Given the description of an element on the screen output the (x, y) to click on. 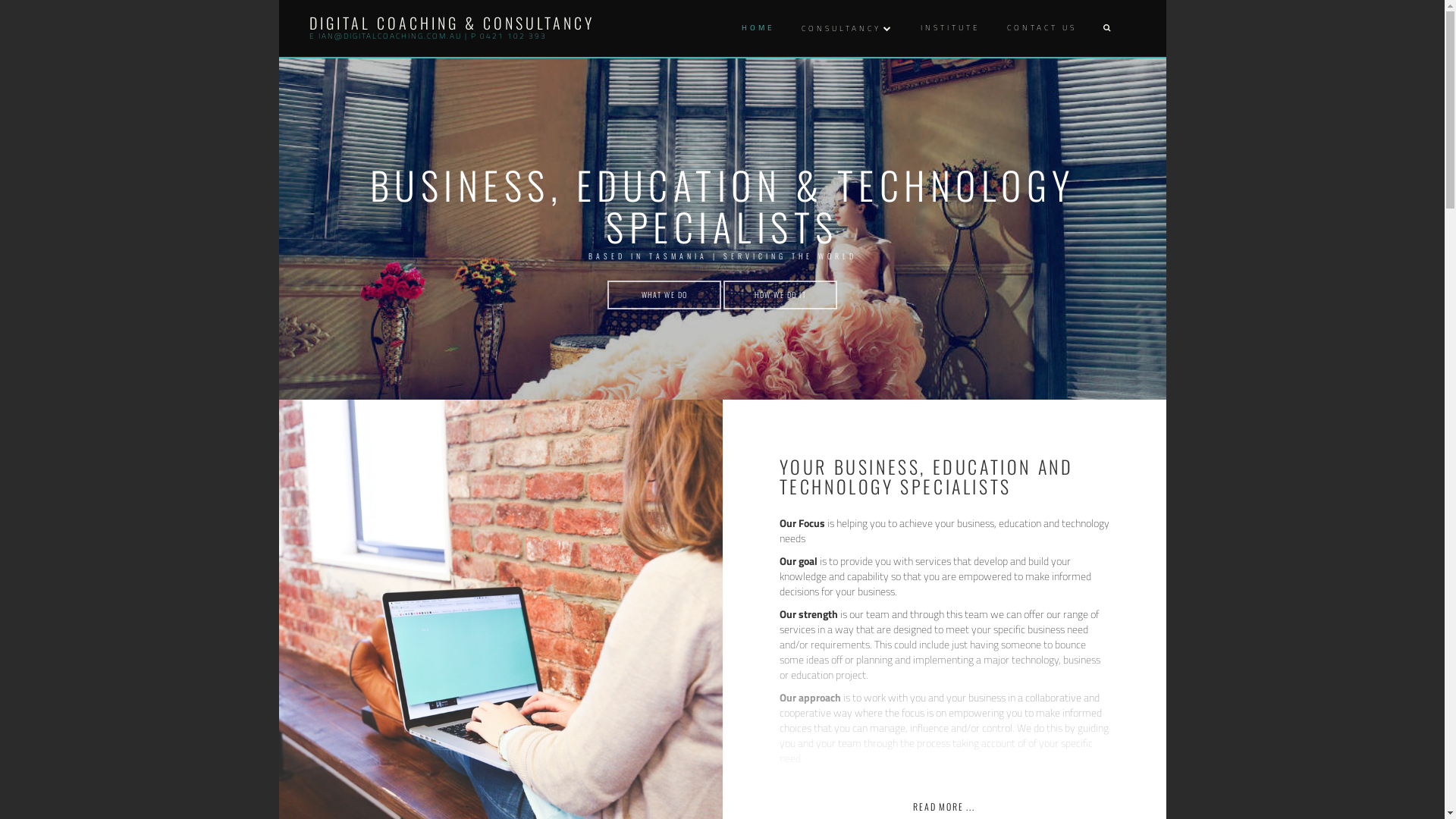
CONSULTANCY Element type: text (845, 28)
WHAT WE DO Element type: text (664, 294)
INSTITUTE Element type: text (947, 28)
CONTACT US Element type: text (1039, 28)
HOW WE DO IT Element type: text (780, 293)
WHAT WE DO Element type: text (665, 293)
DIGITAL COACHING & CONSULTANCY Element type: text (451, 22)
HOW WE DO IT Element type: text (780, 294)
HOME Element type: text (755, 28)
